Given the description of an element on the screen output the (x, y) to click on. 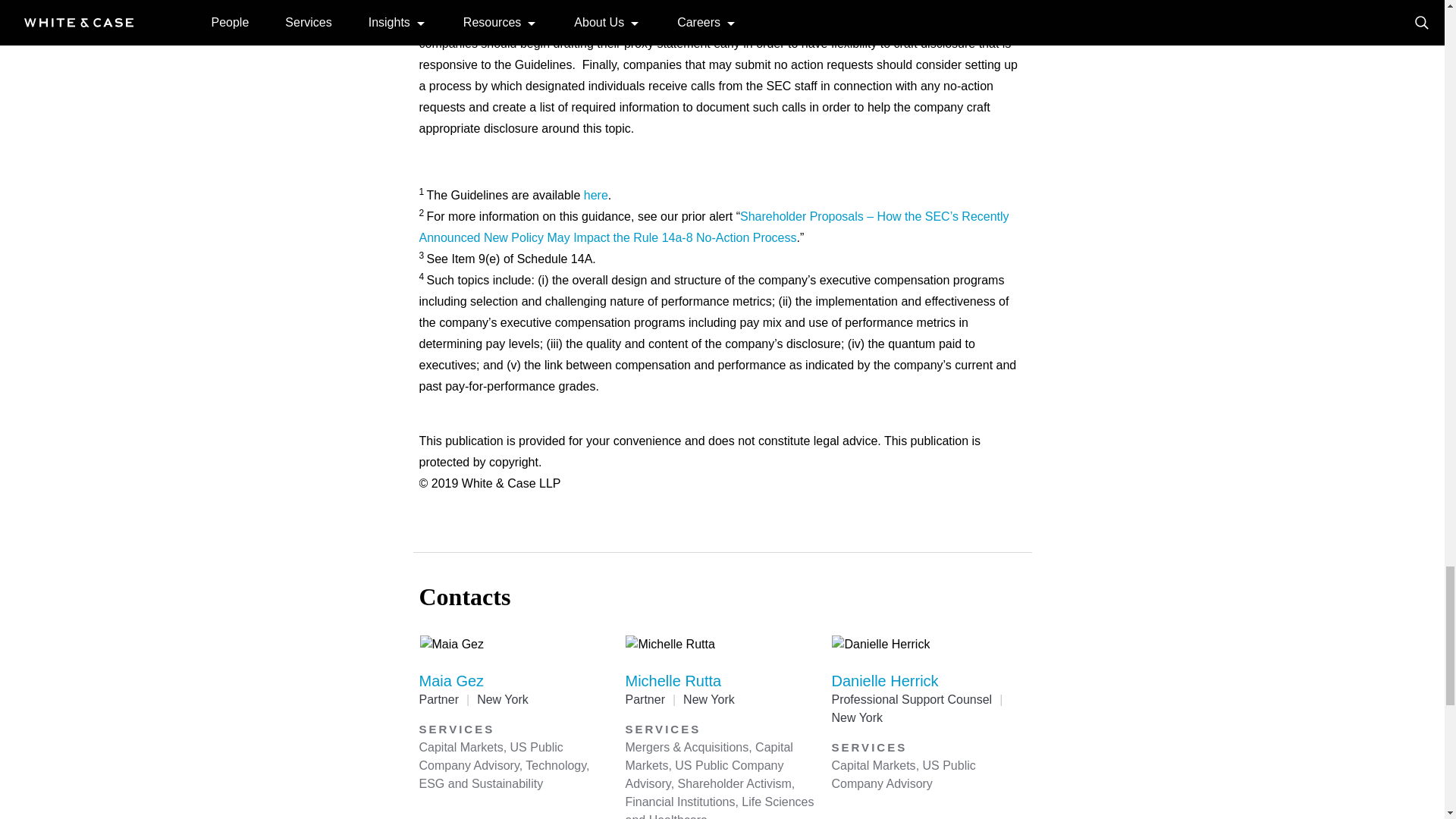
Michelle Rutta (672, 680)
Danielle Herrick (884, 680)
Maia Gez (451, 680)
